Given the description of an element on the screen output the (x, y) to click on. 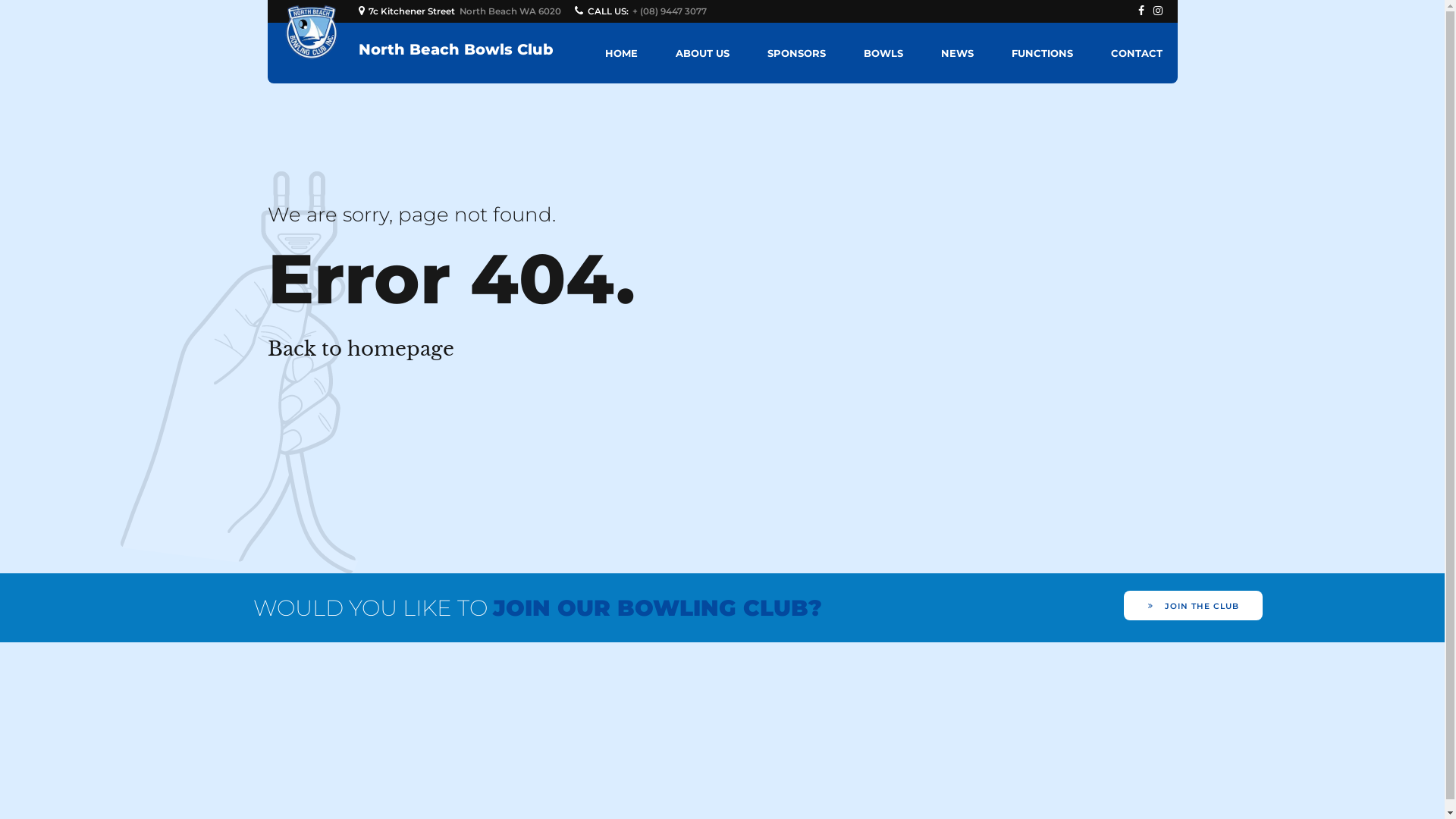
CONTACT Element type: text (1135, 52)
CALL US:
+ (08) 9447 3077 Element type: text (643, 11)
North Beach Bowls Club Element type: text (454, 49)
JOIN THE CLUB Element type: text (1192, 605)
NEWS Element type: text (956, 52)
BOWLS Element type: text (882, 52)
ABOUT US Element type: text (701, 52)
Back to homepage Element type: text (359, 348)
FUNCTIONS Element type: text (1042, 52)
HOME Element type: text (621, 52)
SPONSORS Element type: text (796, 52)
